Given the description of an element on the screen output the (x, y) to click on. 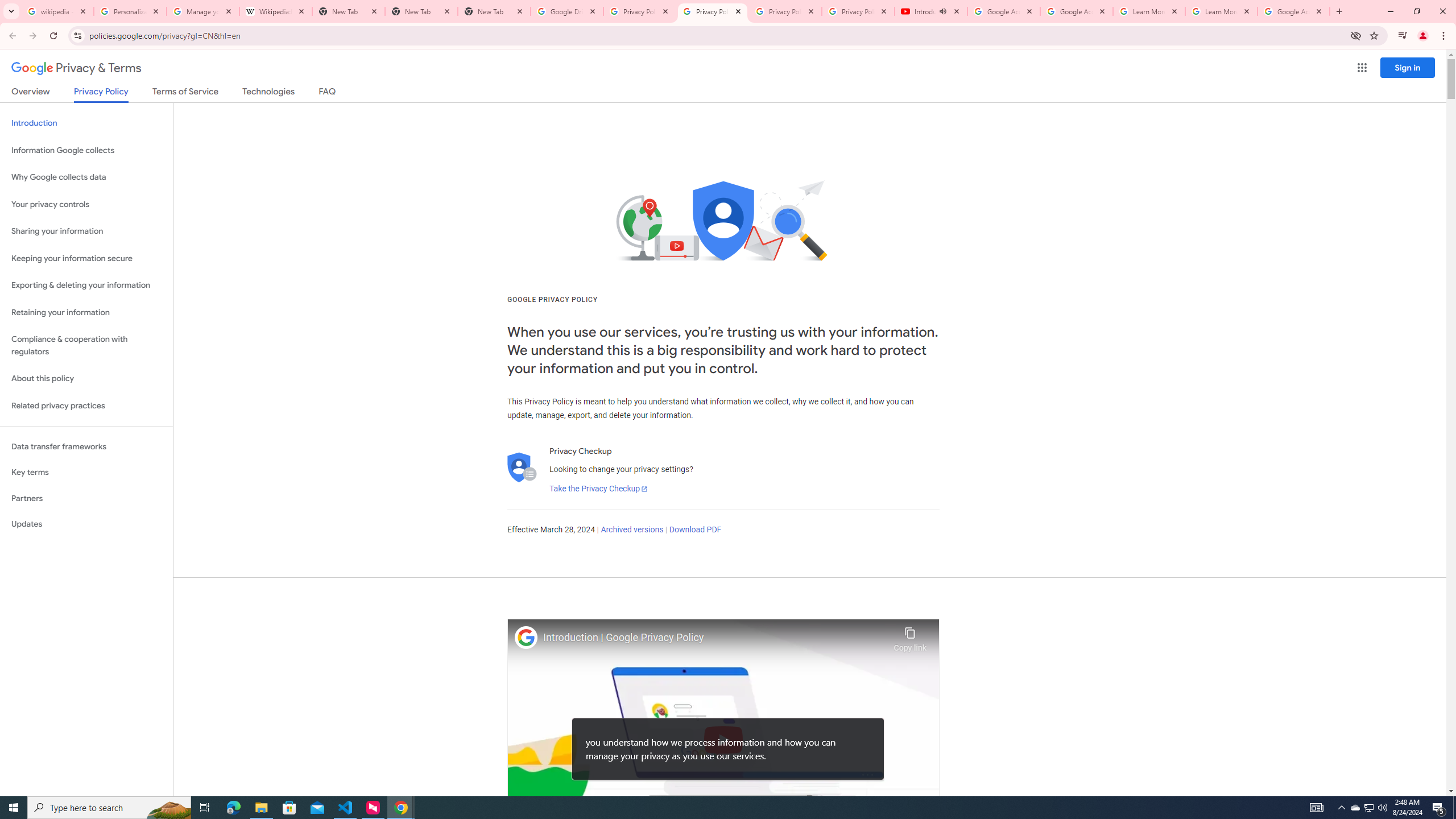
Download PDF (695, 529)
Your privacy controls (86, 204)
About this policy (86, 379)
Archived versions (631, 529)
Keeping your information secure (86, 258)
New Tab (493, 11)
